Given the description of an element on the screen output the (x, y) to click on. 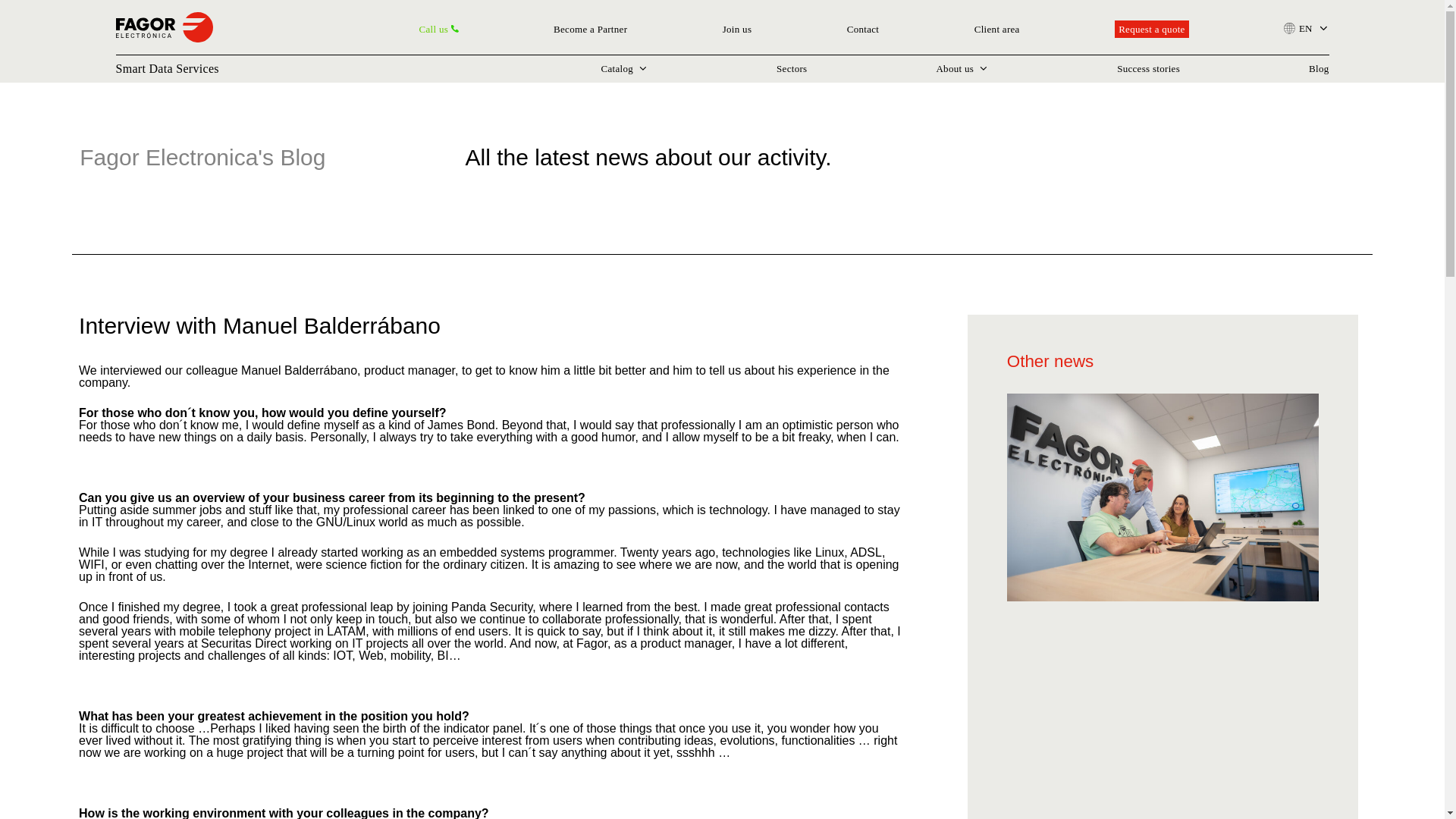
Catalog (623, 68)
Blog (1317, 68)
Sectors (791, 68)
Become a Partner (590, 29)
Join us (737, 29)
Success stories (1147, 68)
Smart Data Services (166, 69)
About us (962, 68)
Call us (438, 29)
Contact (863, 29)
